Given the description of an element on the screen output the (x, y) to click on. 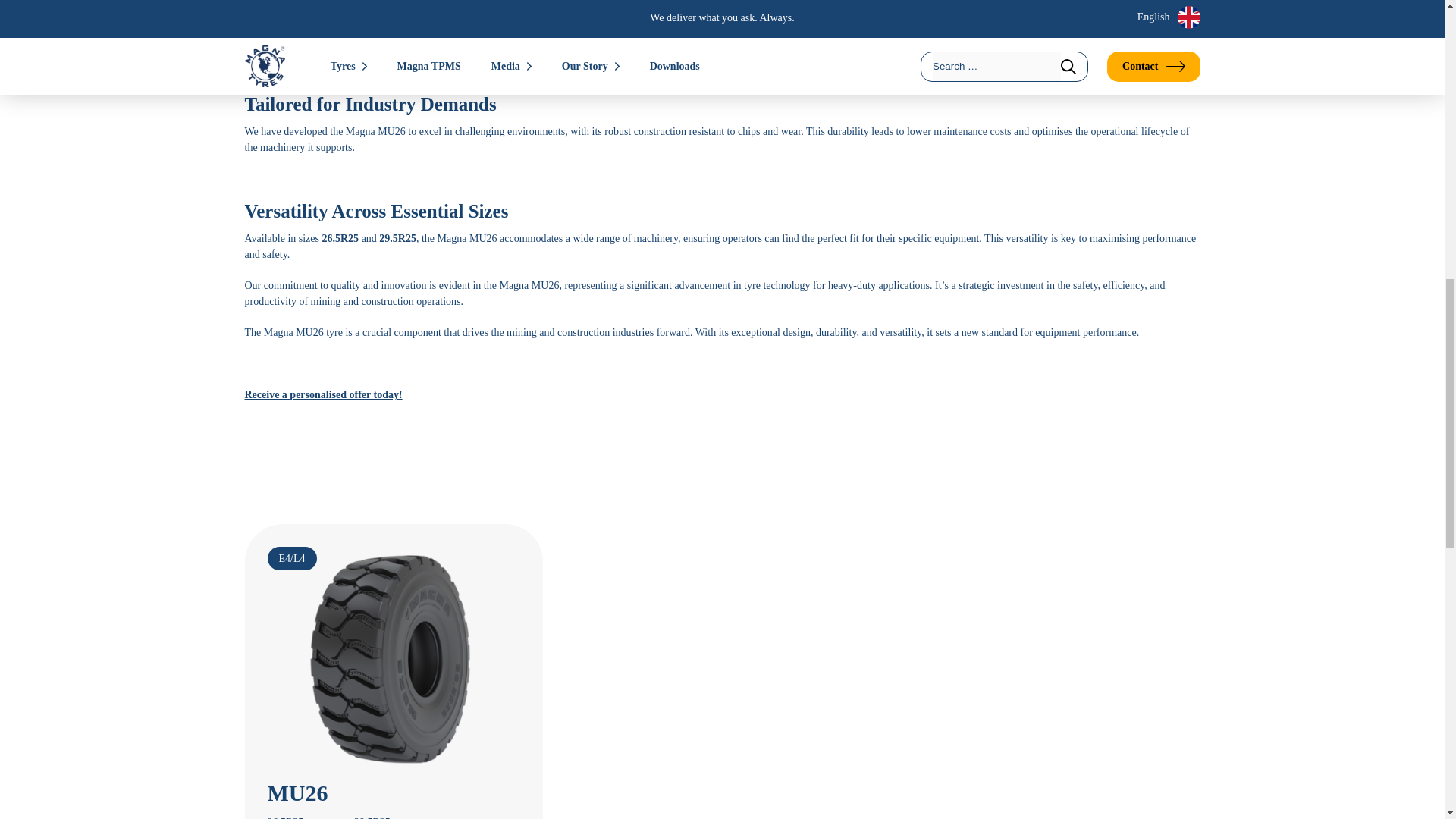
Receive a personalised offer today! (322, 394)
MU26 (296, 792)
